Given the description of an element on the screen output the (x, y) to click on. 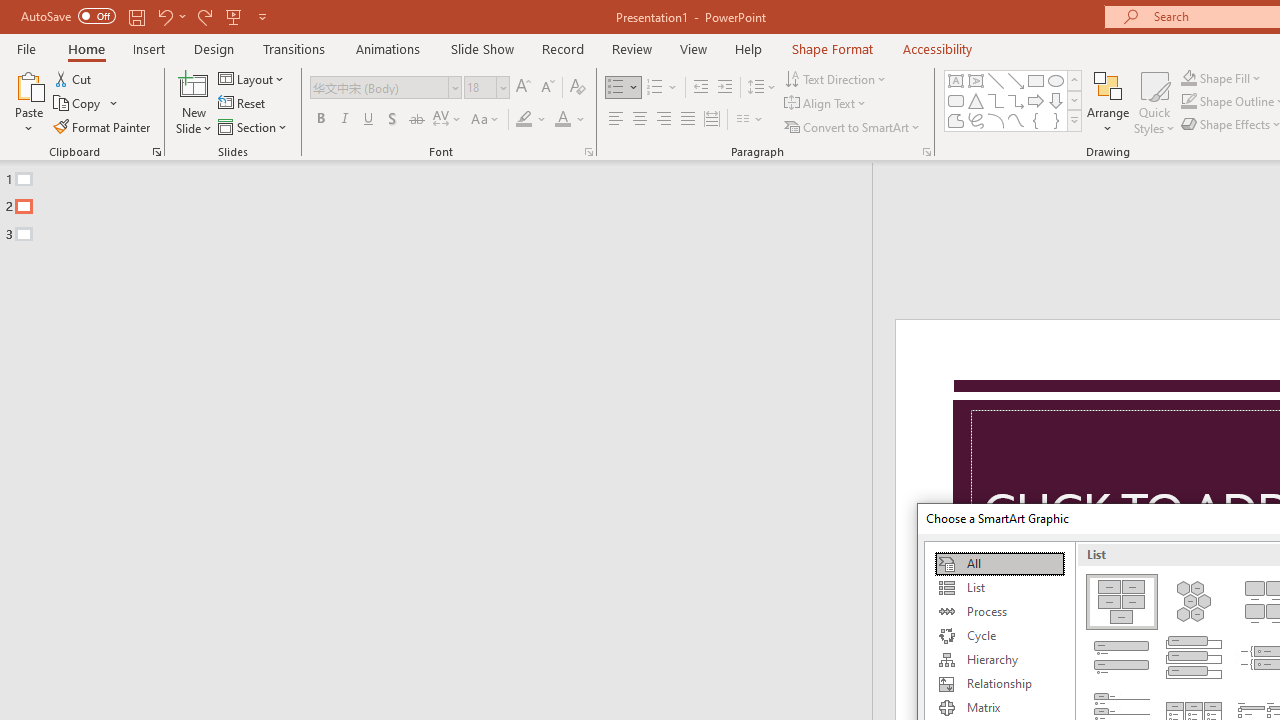
Process (999, 611)
